Given the description of an element on the screen output the (x, y) to click on. 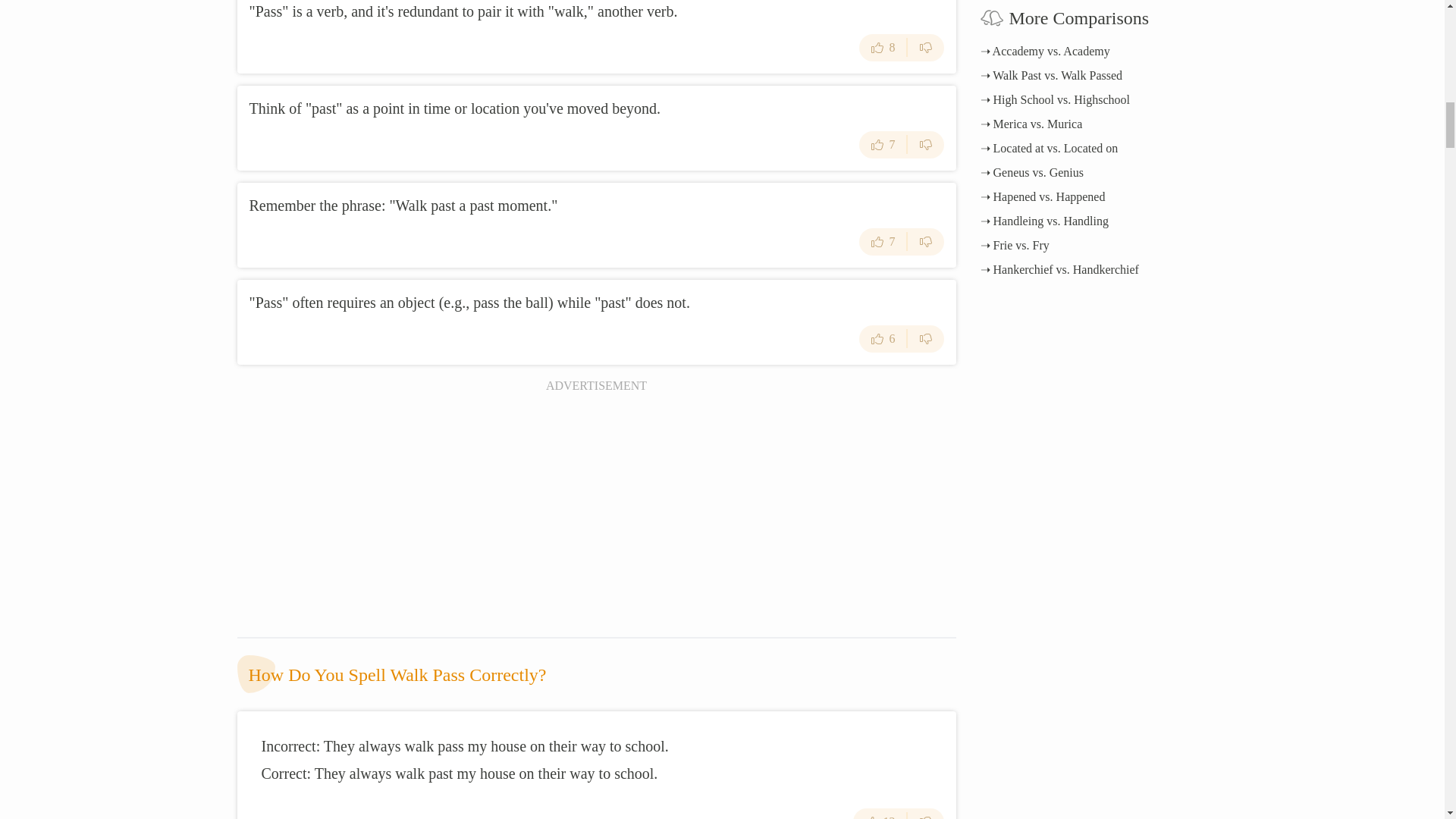
8 (883, 46)
12 (879, 813)
7 (883, 144)
6 (883, 338)
7 (883, 240)
